Given the description of an element on the screen output the (x, y) to click on. 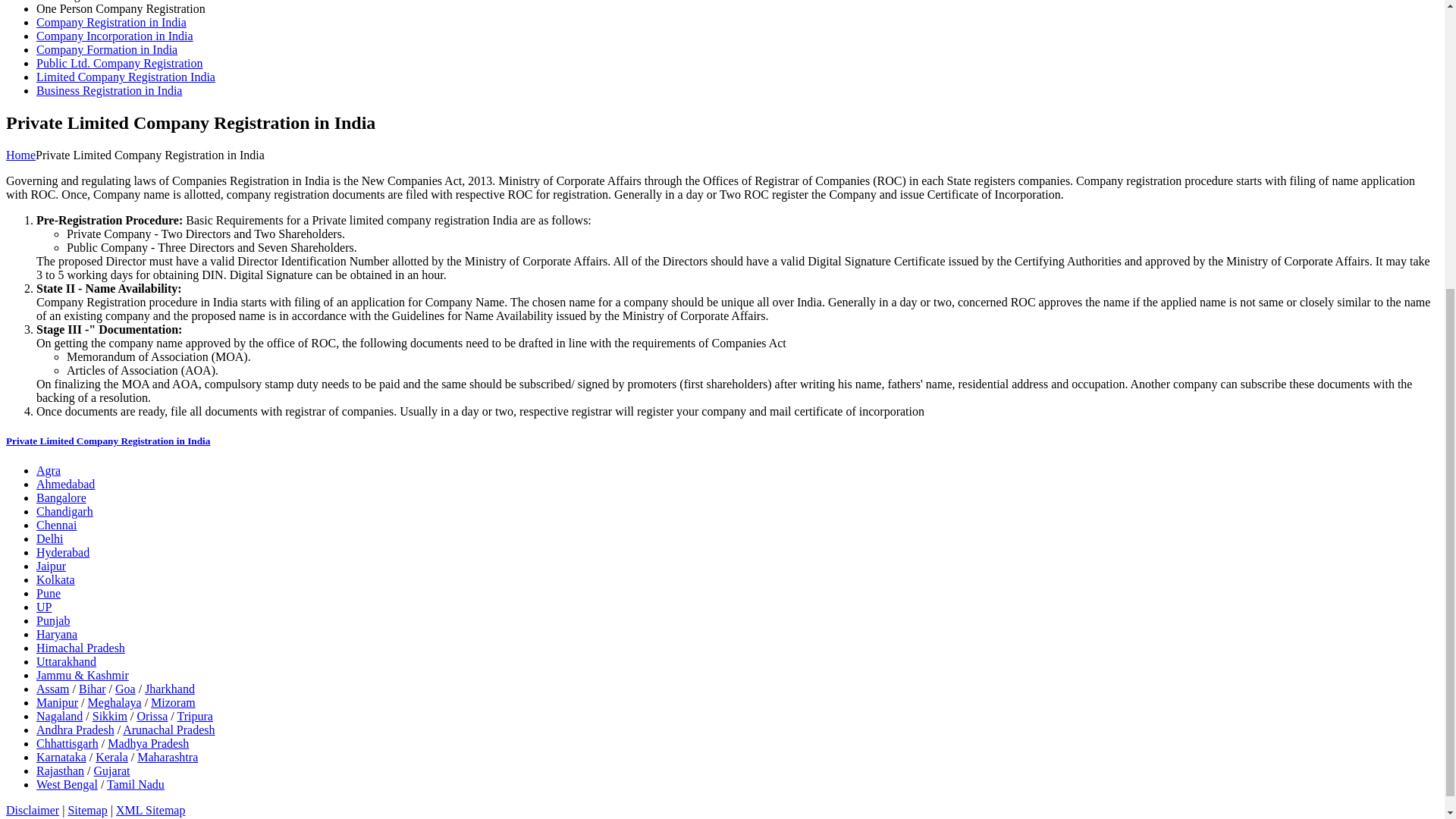
Home (19, 154)
Punjab (52, 620)
Himachal Pradesh (80, 647)
Limited Company Registration India (125, 76)
Company Formation in India (106, 49)
Private Limited Company Registration in India (107, 440)
UP (43, 606)
Uttarakhand (66, 661)
Assam (52, 688)
Business Registration in India (109, 90)
Agra (48, 470)
Company Incorporation in India (114, 35)
Bangalore (60, 497)
Jaipur (50, 565)
Chennai (56, 524)
